Given the description of an element on the screen output the (x, y) to click on. 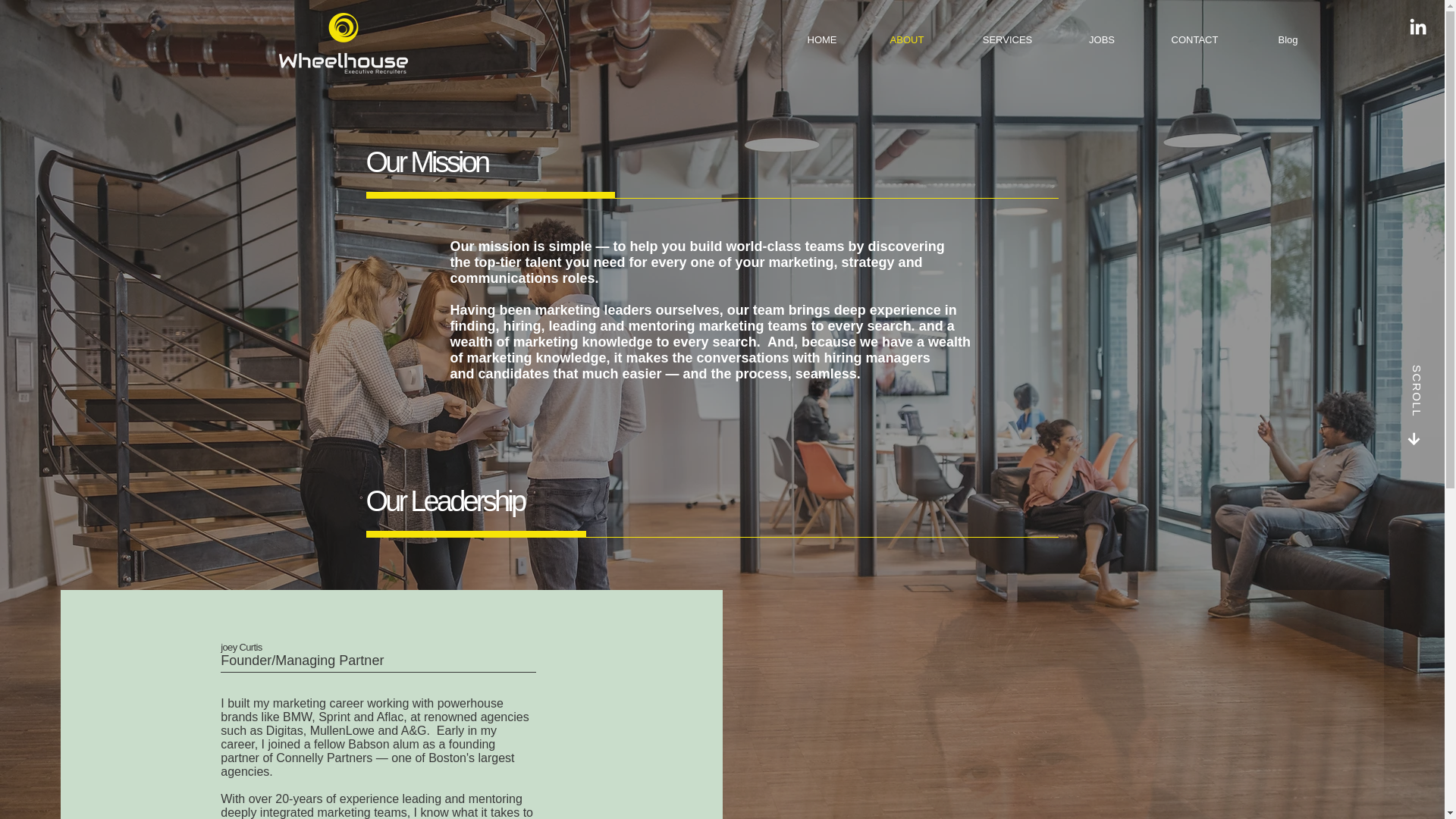
SERVICES (1007, 39)
HOME (821, 39)
Blog (1287, 39)
CONTACT (1194, 39)
ABOUT (906, 39)
JOBS (1101, 39)
